Given the description of an element on the screen output the (x, y) to click on. 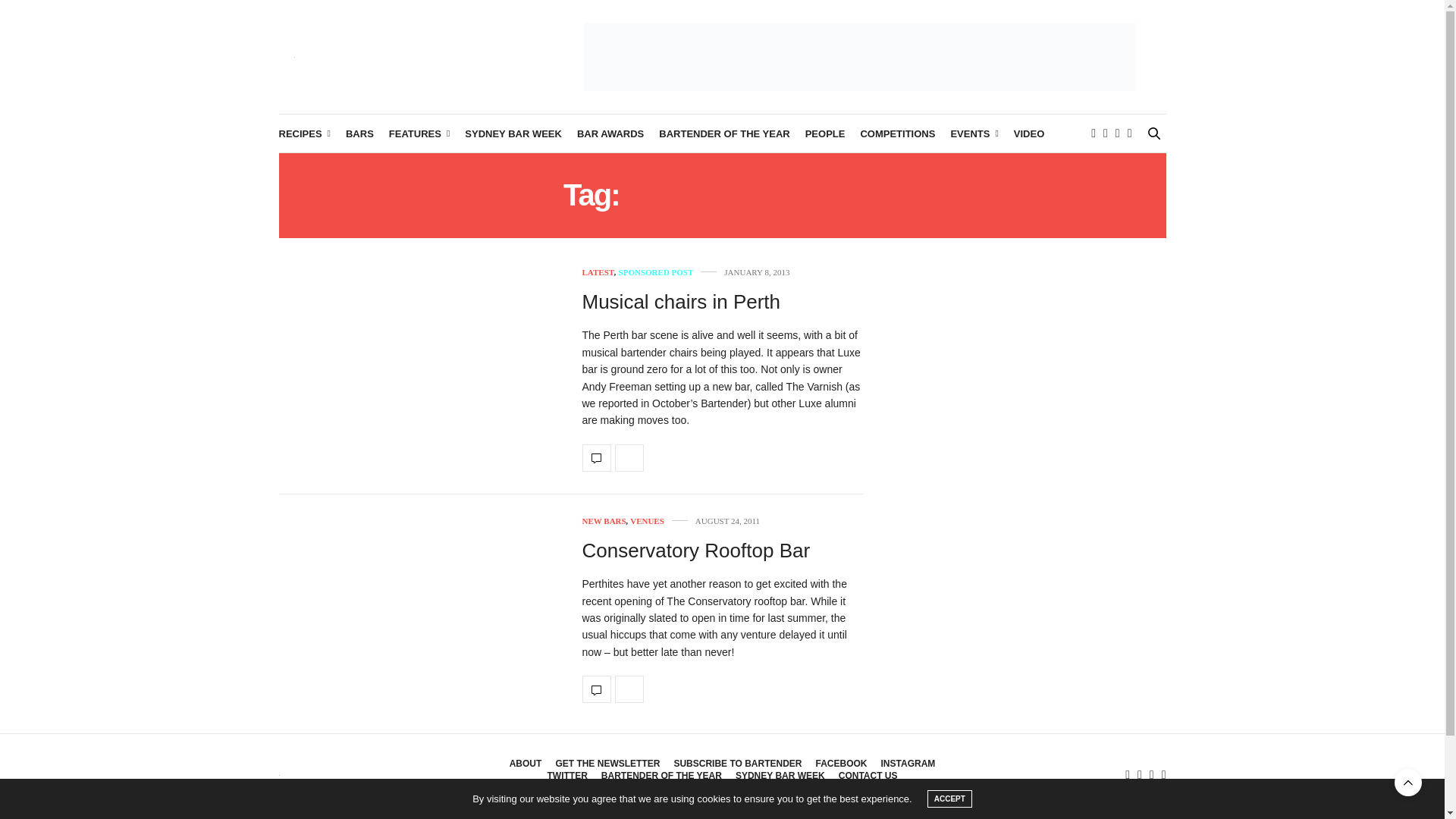
RECIPES (304, 133)
Conservatory Rooftop Bar (696, 549)
Scroll To Top (1408, 782)
Musical chairs in Perth (681, 301)
Conservatory Rooftop Bar (596, 688)
FEATURES (418, 133)
Musical chairs in Perth (596, 457)
